Given the description of an element on the screen output the (x, y) to click on. 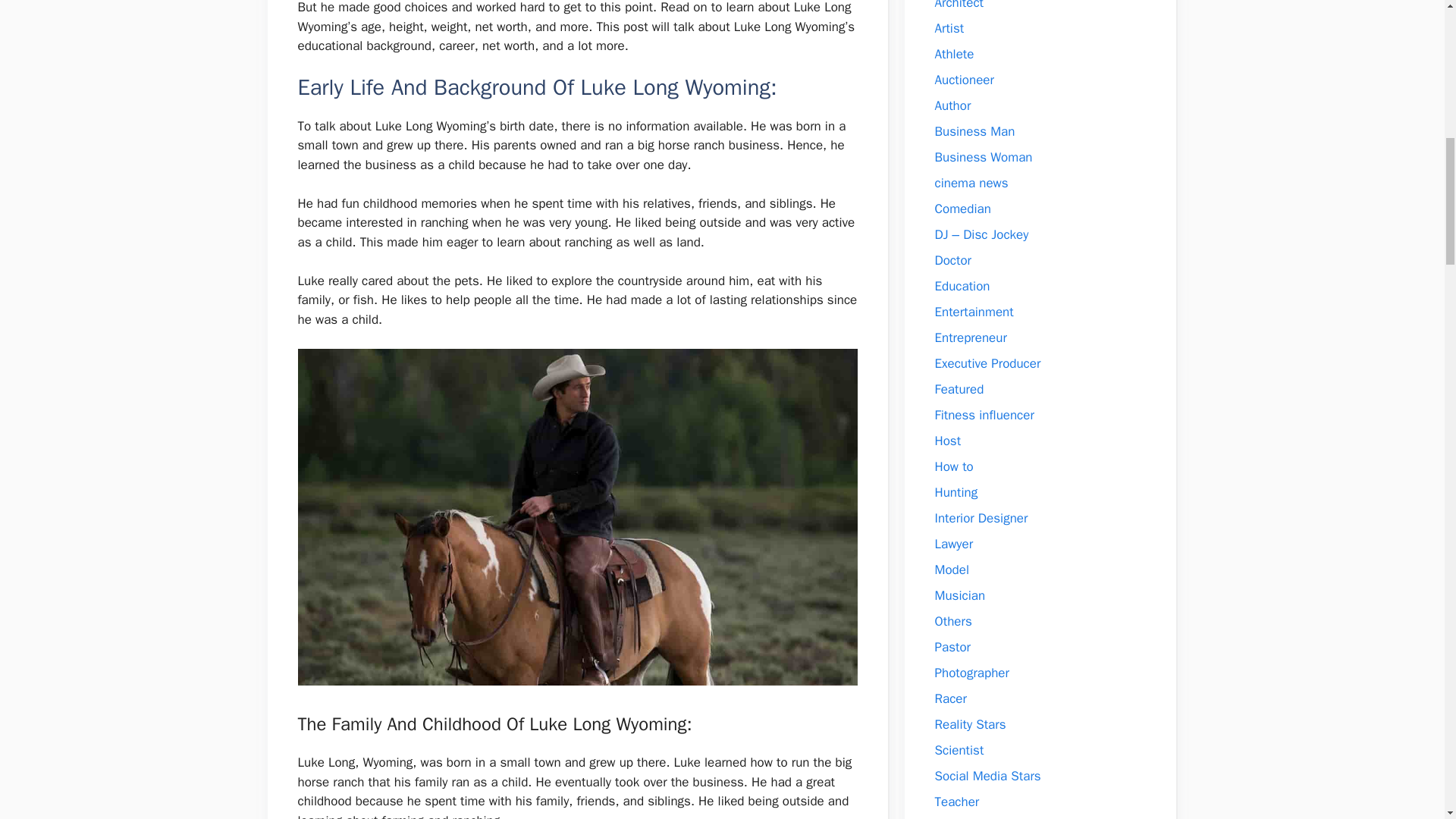
Executive Producer (987, 363)
Auctioneer (963, 79)
Author (952, 105)
Entrepreneur (970, 337)
Entertainment (973, 311)
How to (953, 466)
Doctor (952, 260)
Hunting (955, 492)
Business Man (974, 131)
Architect (959, 5)
Fitness influencer (983, 415)
Comedian (962, 208)
Education (962, 286)
Athlete (954, 53)
Artist (948, 28)
